Given the description of an element on the screen output the (x, y) to click on. 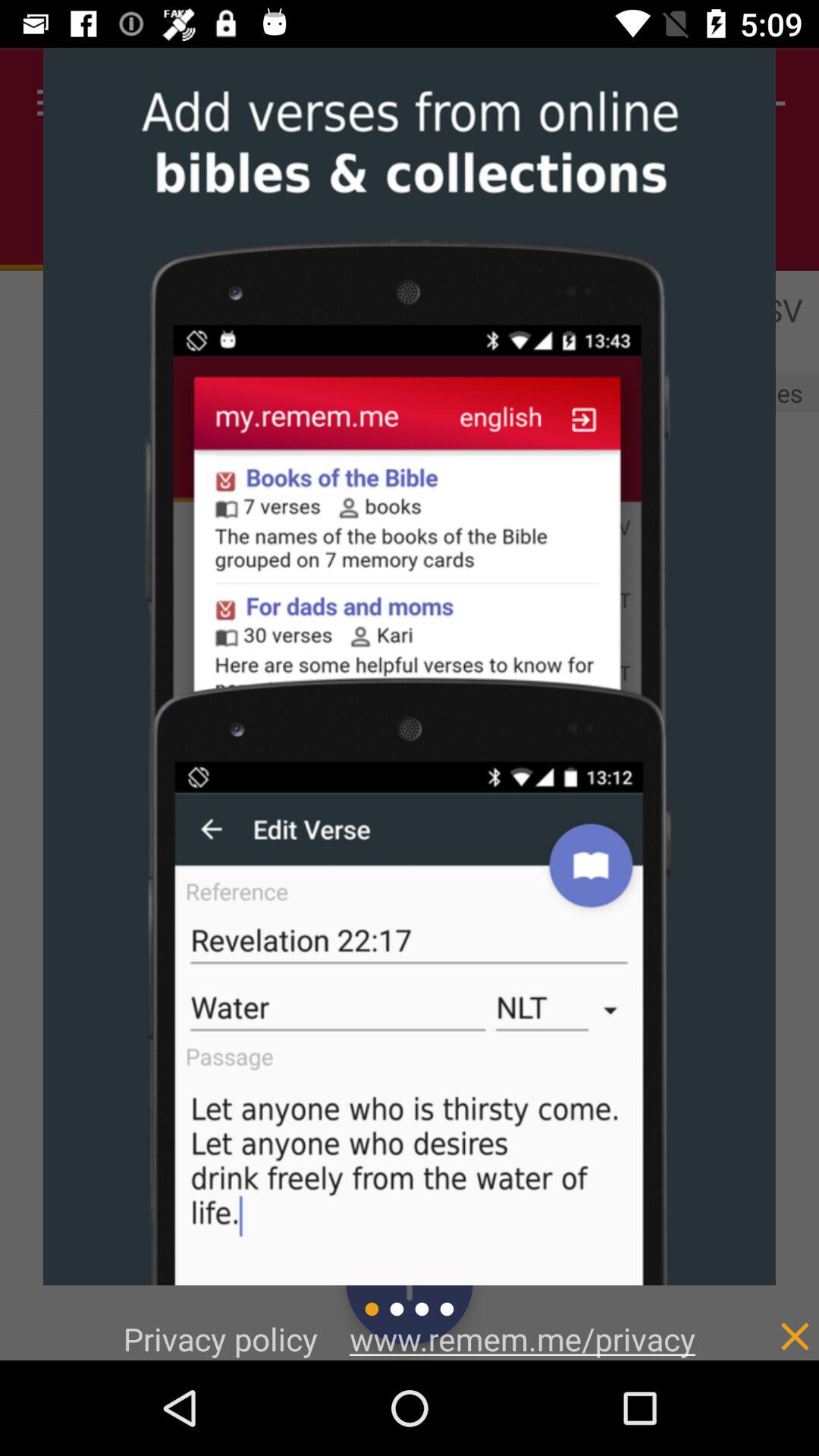
scroll to www remem me (522, 1338)
